Given the description of an element on the screen output the (x, y) to click on. 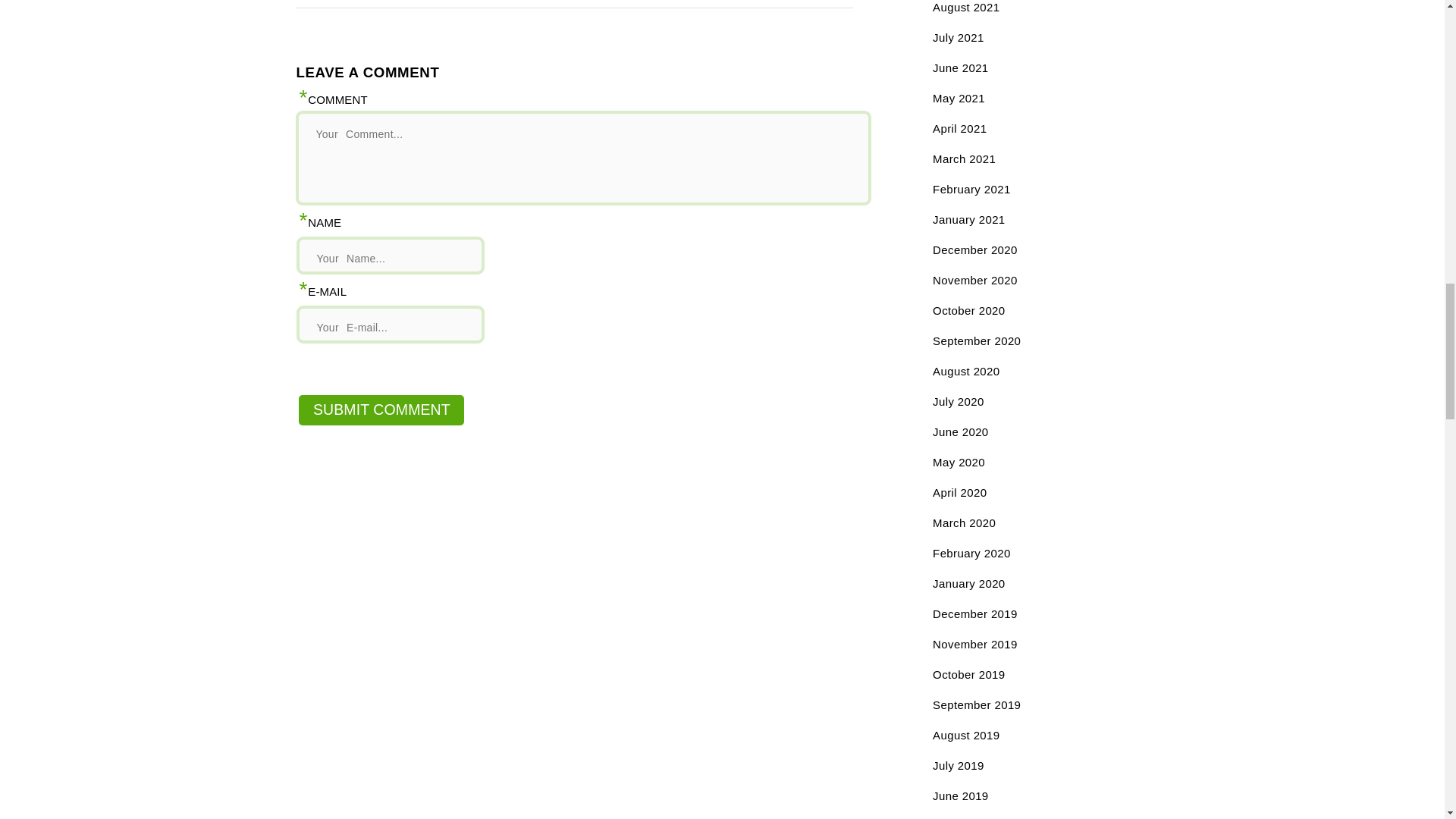
submit comment (381, 409)
submit comment (381, 409)
